Given the description of an element on the screen output the (x, y) to click on. 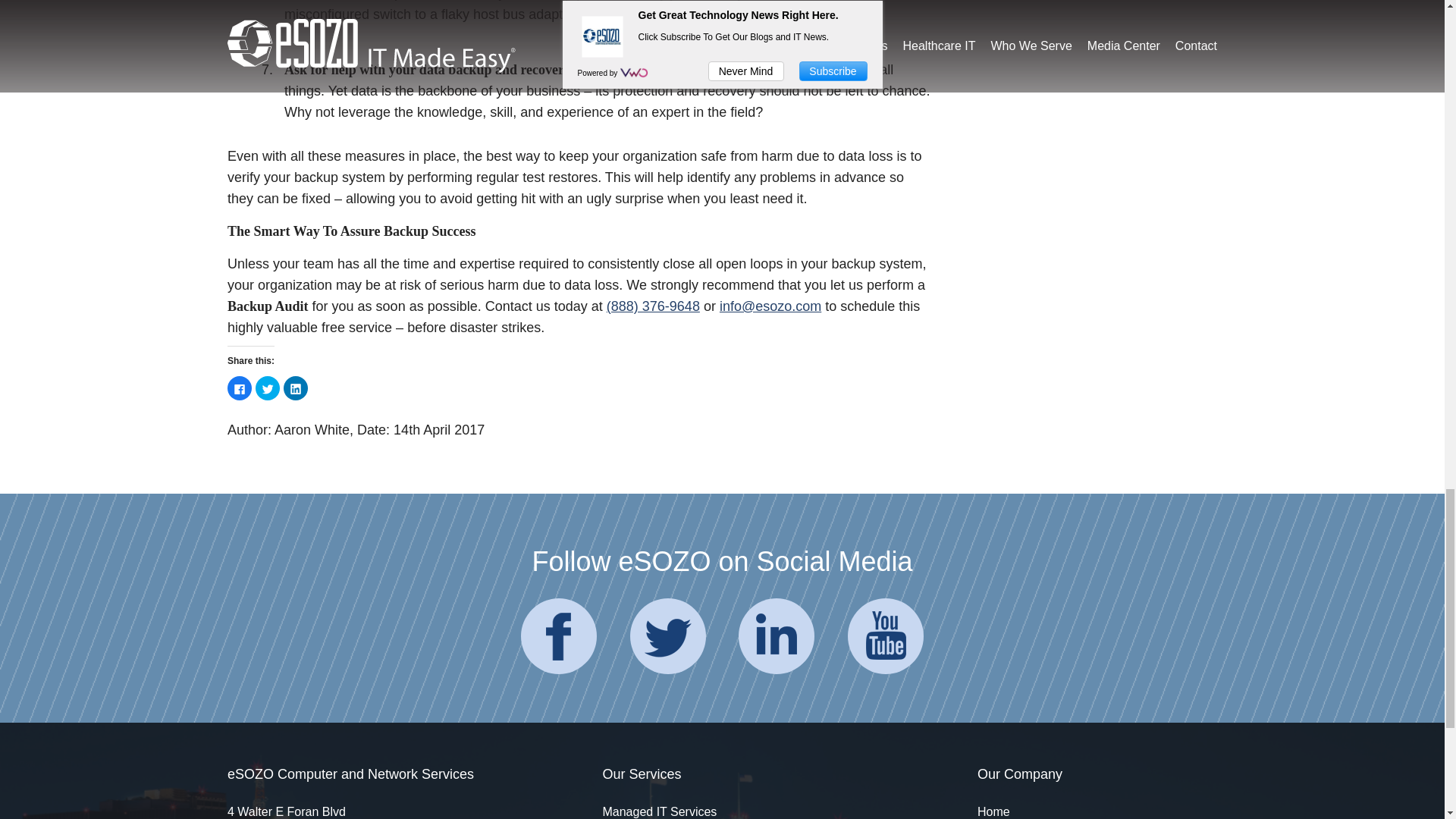
Click to share on Twitter (267, 387)
Click to share on Facebook (239, 387)
Click to share on LinkedIn (295, 387)
